Given the description of an element on the screen output the (x, y) to click on. 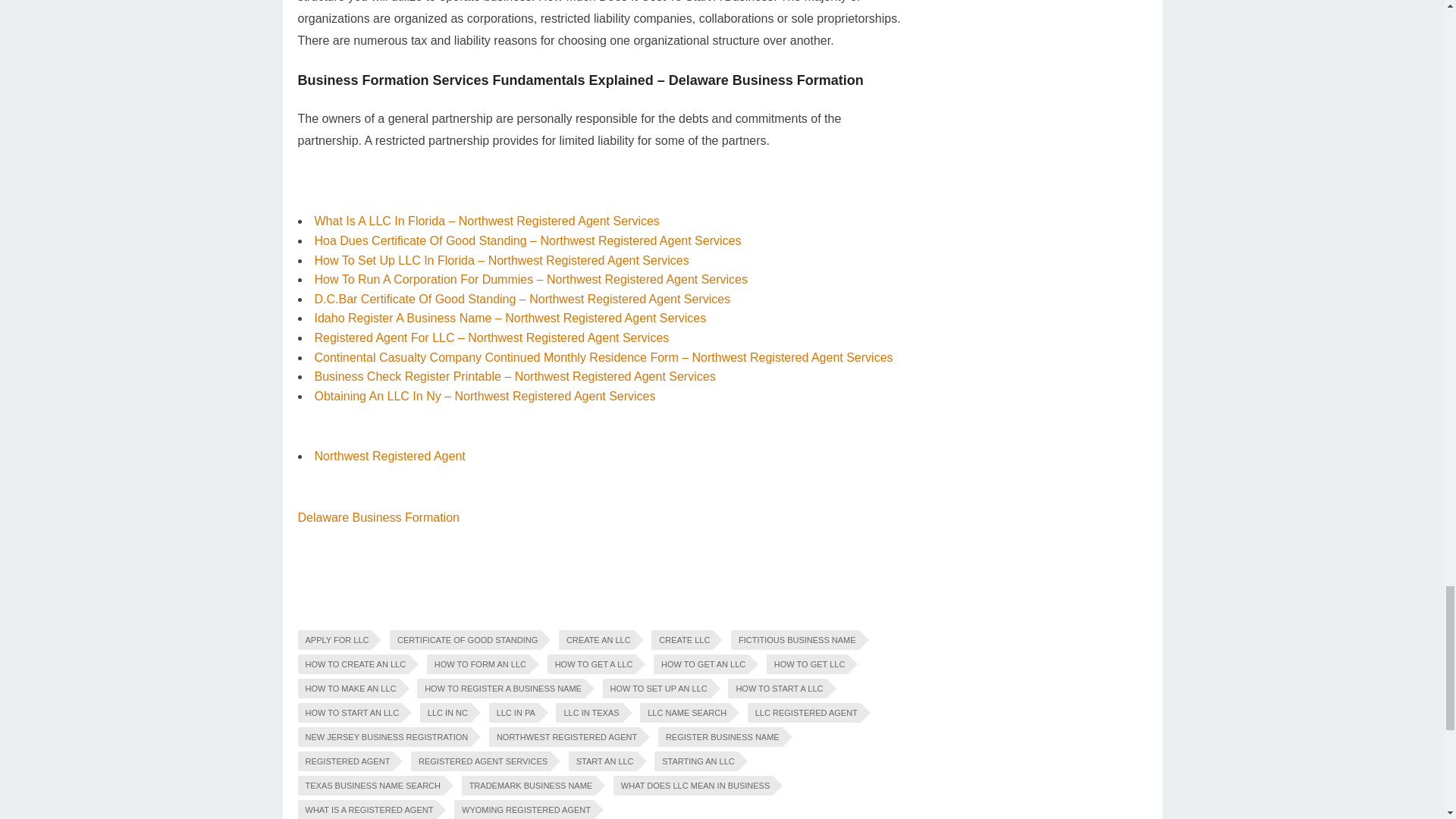
CERTIFICATE OF GOOD STANDING (465, 639)
Northwest Registered Agent (389, 455)
FICTITIOUS BUSINESS NAME (794, 639)
CREATE AN LLC (596, 639)
Delaware Business Formation (377, 517)
CREATE LLC (681, 639)
APPLY FOR LLC (334, 639)
